Given the description of an element on the screen output the (x, y) to click on. 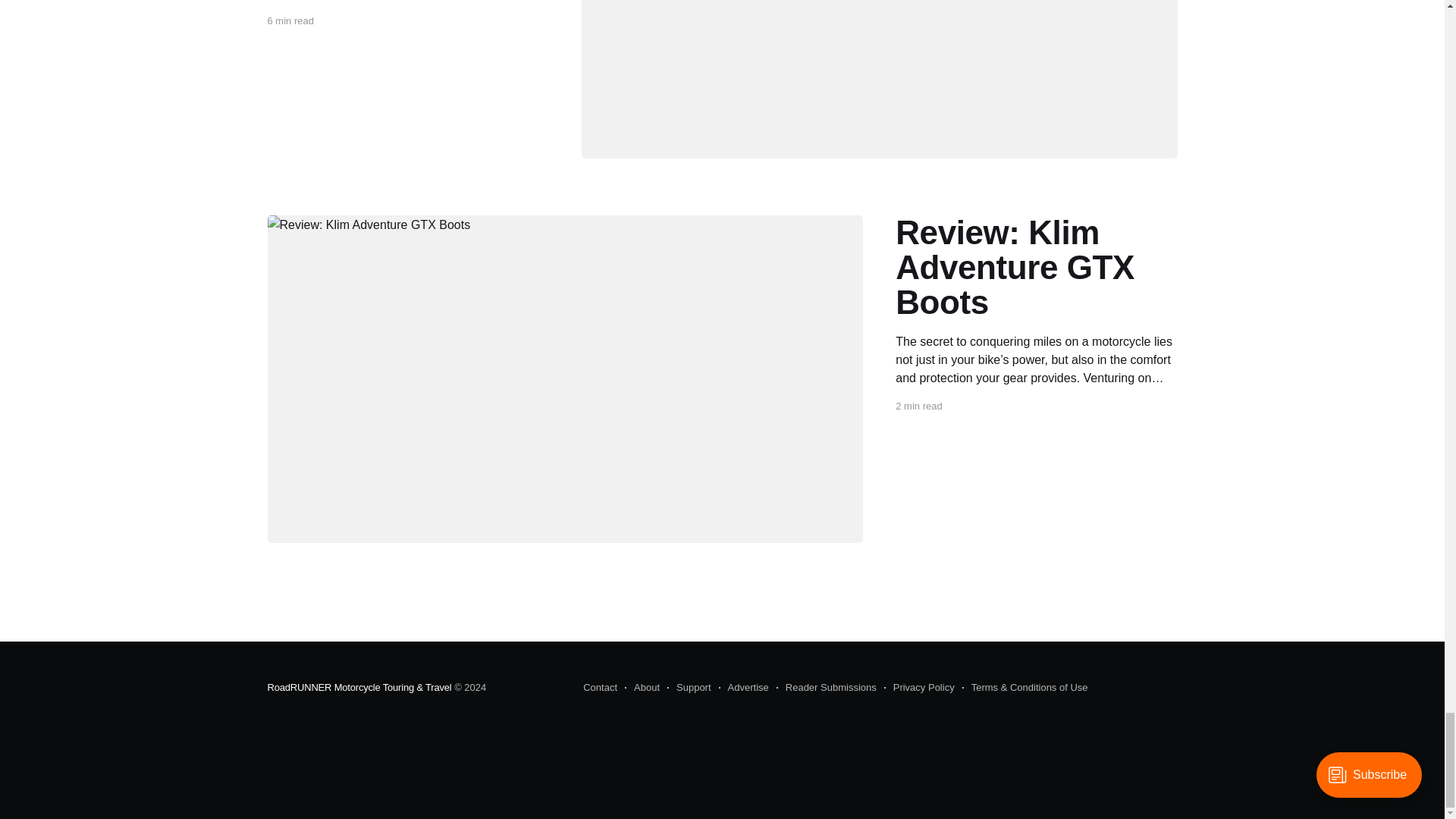
Contact (600, 687)
Advertise (743, 687)
Support (688, 687)
Reader Submissions (826, 687)
Privacy Policy (919, 687)
About (641, 687)
